Given the description of an element on the screen output the (x, y) to click on. 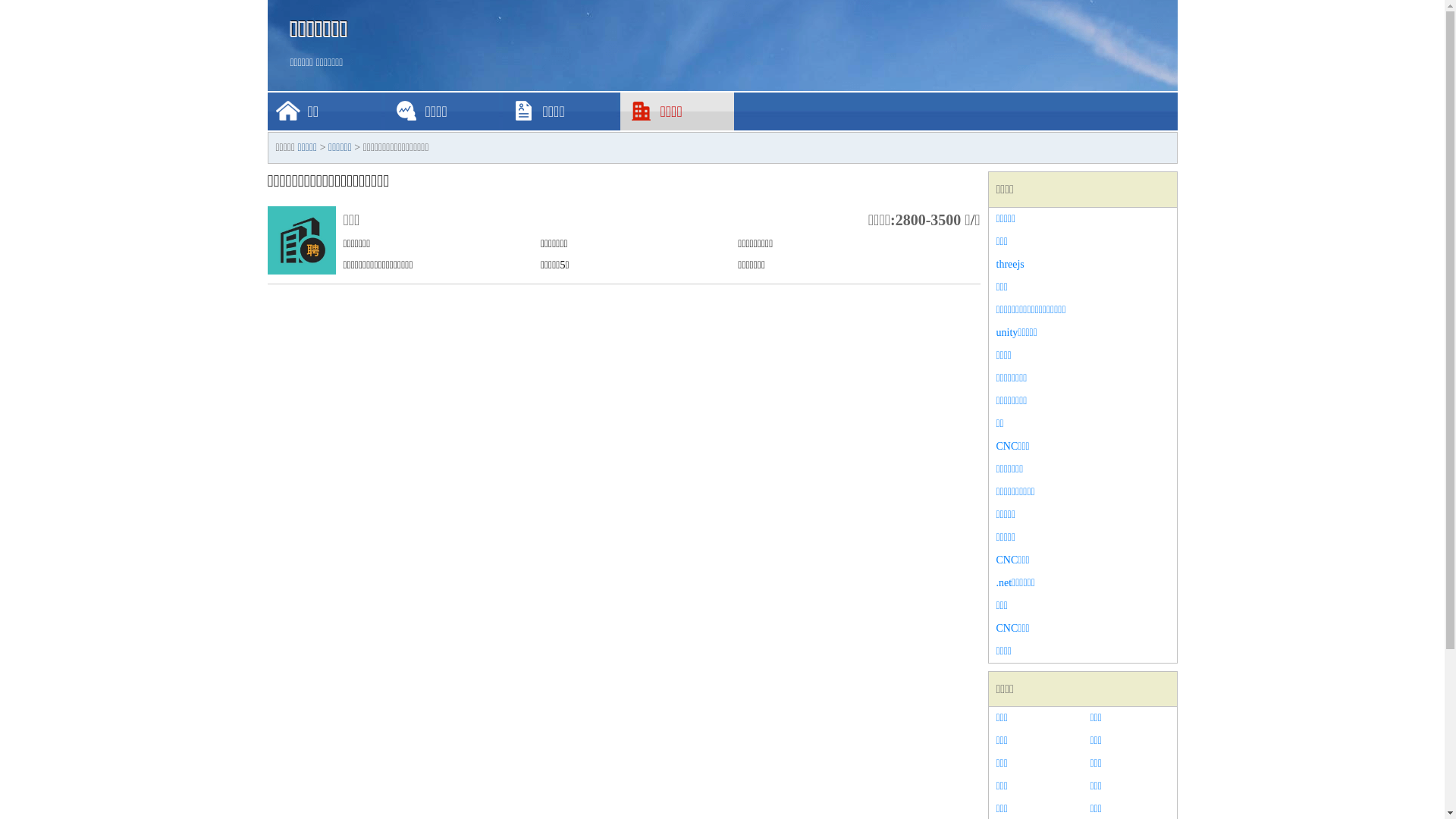
threejs Element type: text (1082, 264)
